Given the description of an element on the screen output the (x, y) to click on. 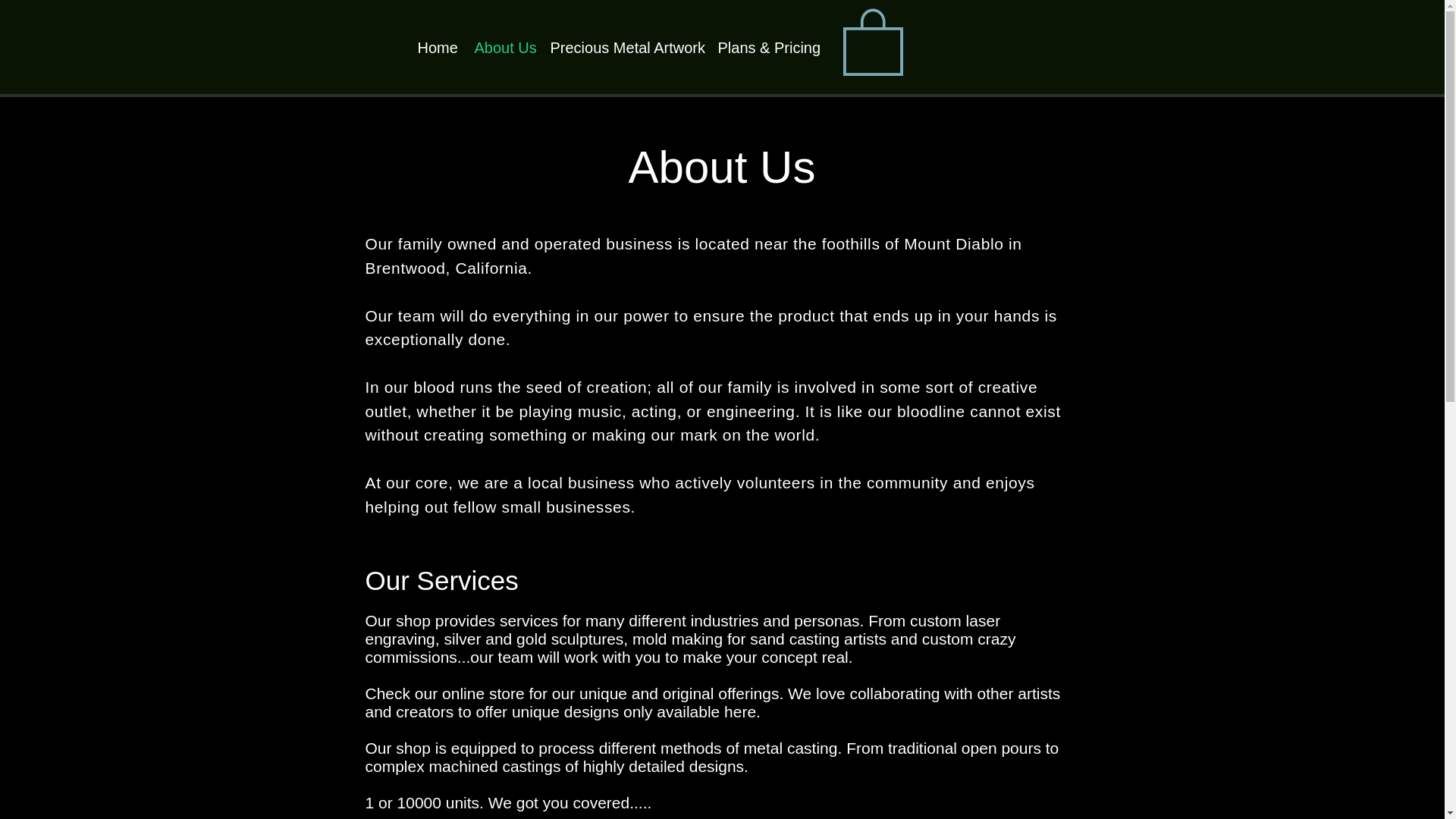
Home (434, 48)
Precious Metal Artwork (622, 48)
About Us (500, 48)
